Given the description of an element on the screen output the (x, y) to click on. 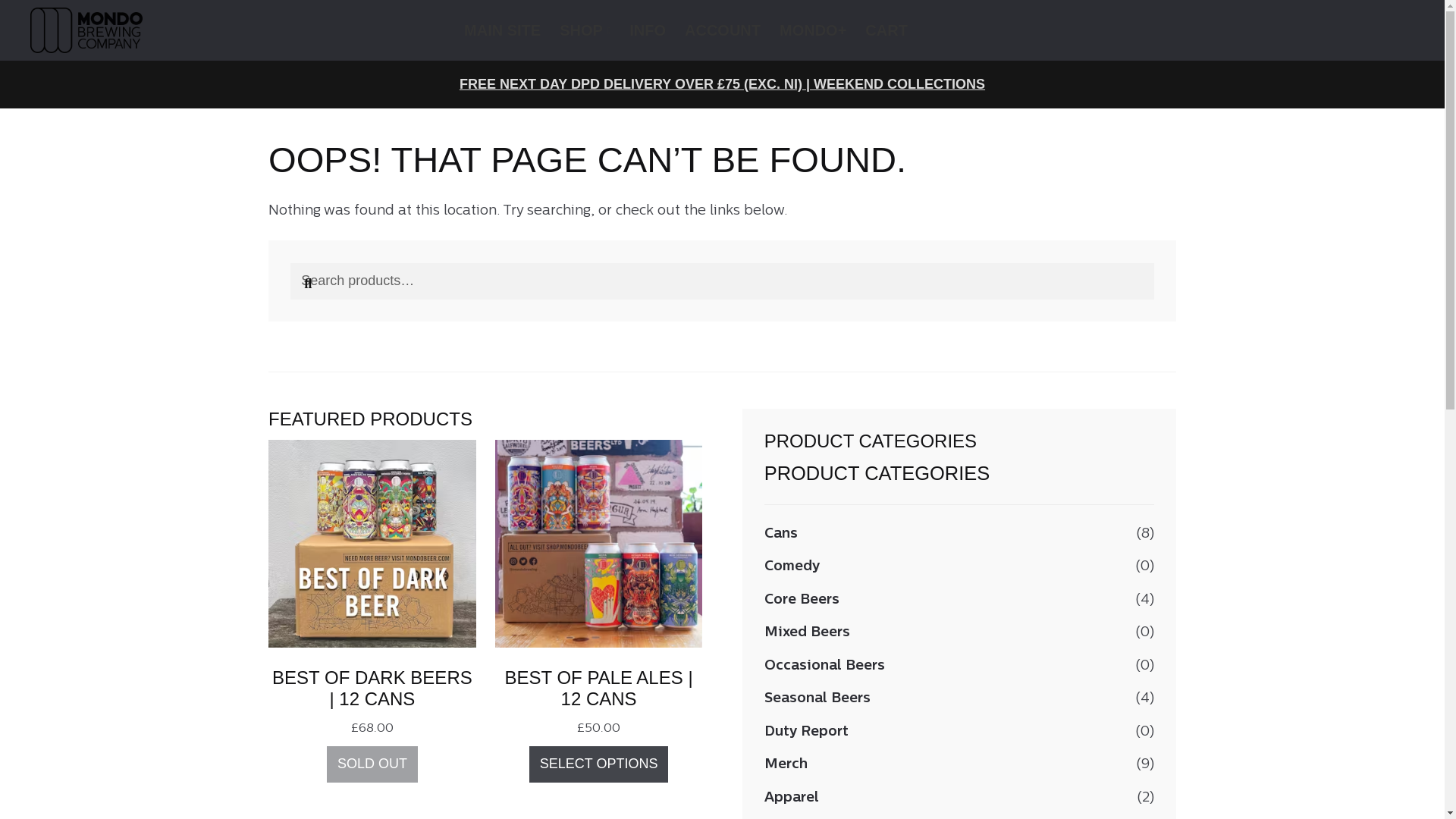
MAIN SITE (502, 30)
ACCOUNT (722, 30)
SELECT OPTIONS (598, 764)
SHOP (584, 30)
Comedy (792, 566)
Core Beers (802, 599)
CART (886, 30)
Cans (780, 534)
SOLD OUT (371, 764)
